Given the description of an element on the screen output the (x, y) to click on. 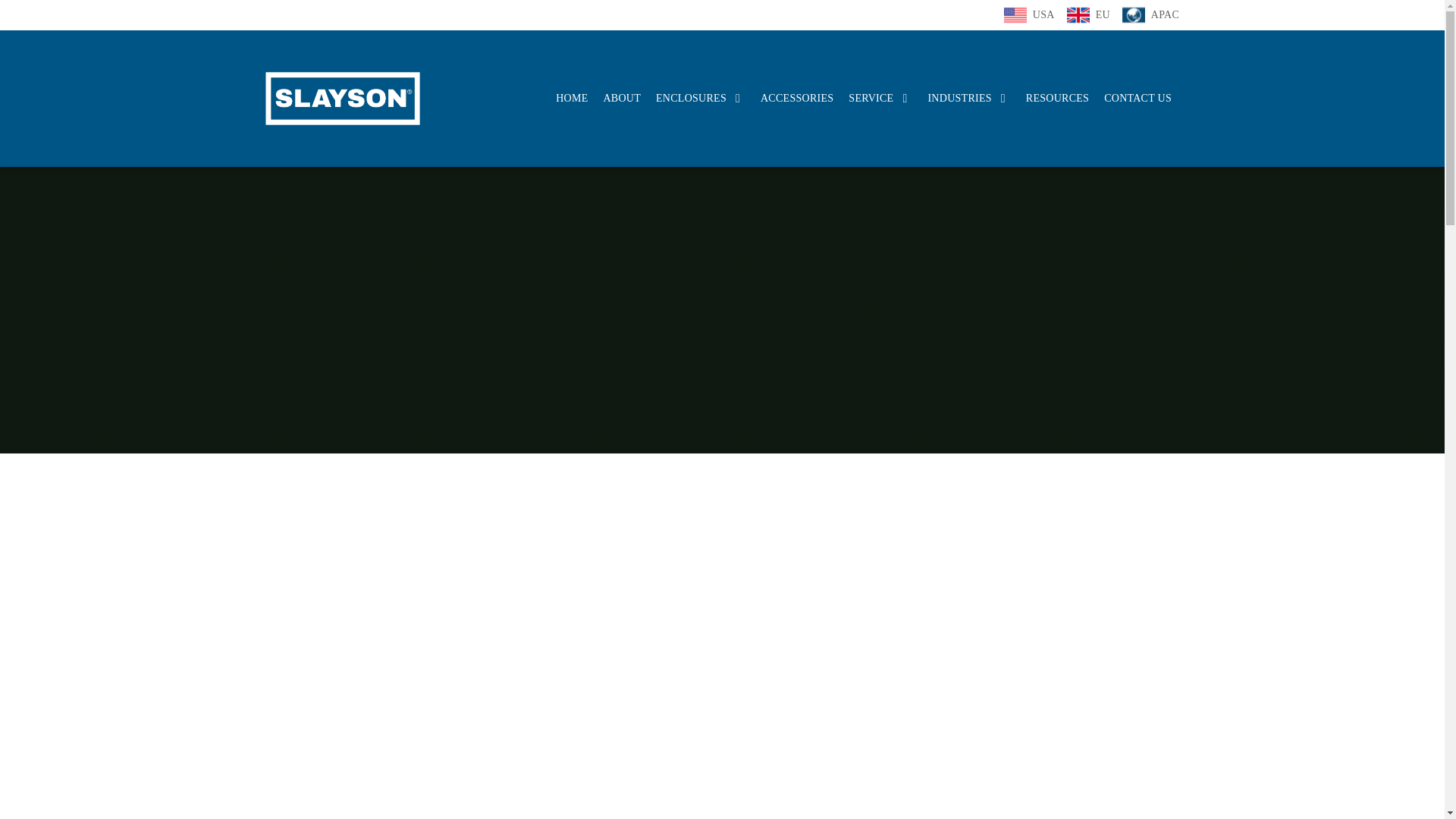
SERVICE (880, 97)
USA (1029, 15)
ABOUT (621, 97)
ENCLOSURES (700, 97)
APAC (1150, 15)
ACCESSORIES (796, 97)
HOME (572, 97)
EU (1088, 15)
INDUSTRIES (968, 97)
